Given the description of an element on the screen output the (x, y) to click on. 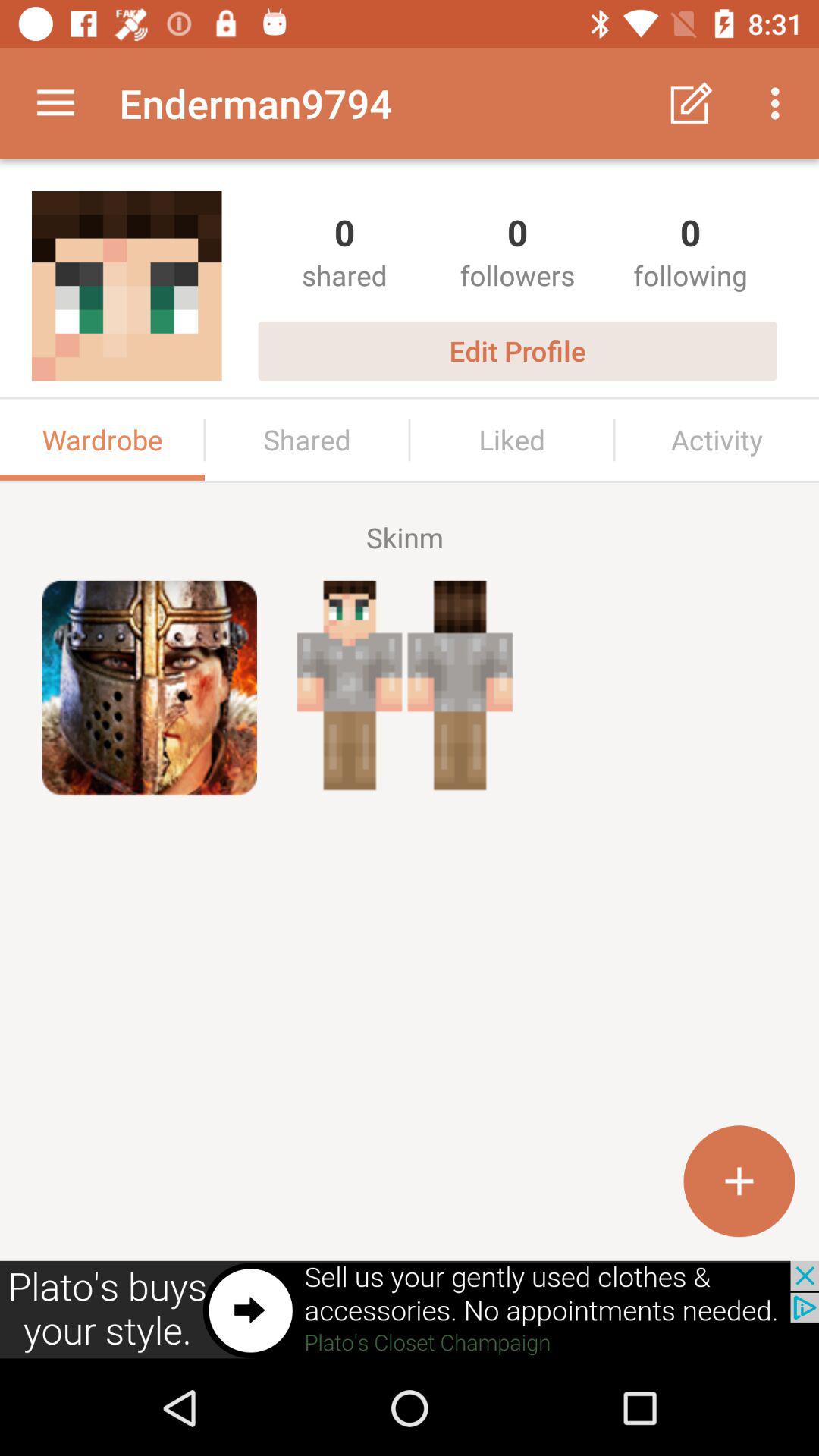
click on 0 followers (517, 251)
click on edit profile (517, 350)
select activity (716, 440)
select the first shared option (344, 251)
click on the image below enderman (126, 285)
click on button left to three dots icon (691, 103)
